Given the description of an element on the screen output the (x, y) to click on. 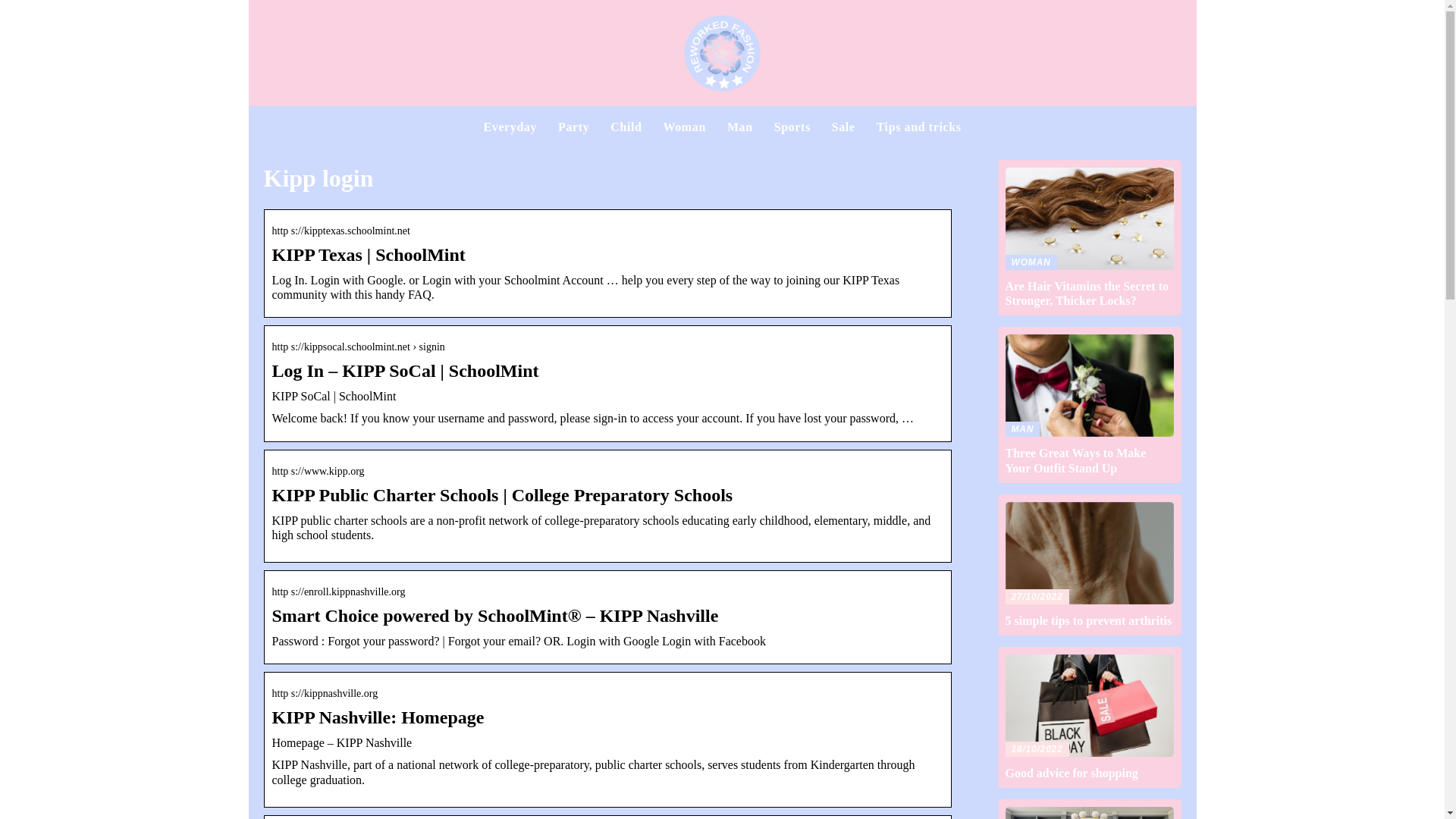
Man (1089, 404)
Sports (739, 126)
Child (792, 126)
Woman (626, 126)
Party (684, 126)
Everyday (573, 126)
Sale (510, 126)
Tips and tricks (843, 126)
